Given the description of an element on the screen output the (x, y) to click on. 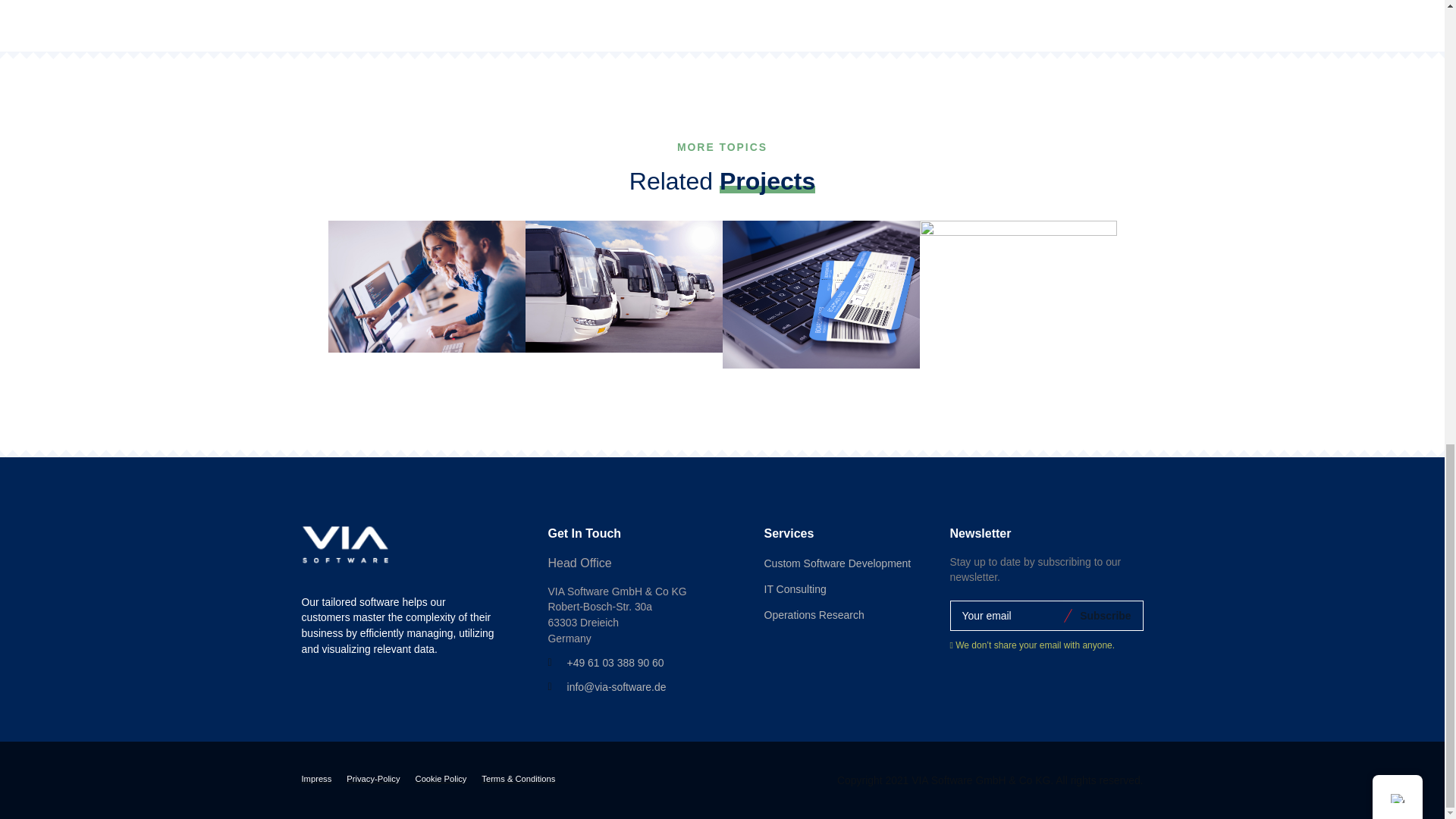
Privacy-Policy (372, 779)
Subscribe (1102, 615)
Custom Software Development (837, 564)
Operations Research (814, 615)
IT Consulting (795, 589)
Cookie Policy (440, 779)
Impress (316, 779)
